Given the description of an element on the screen output the (x, y) to click on. 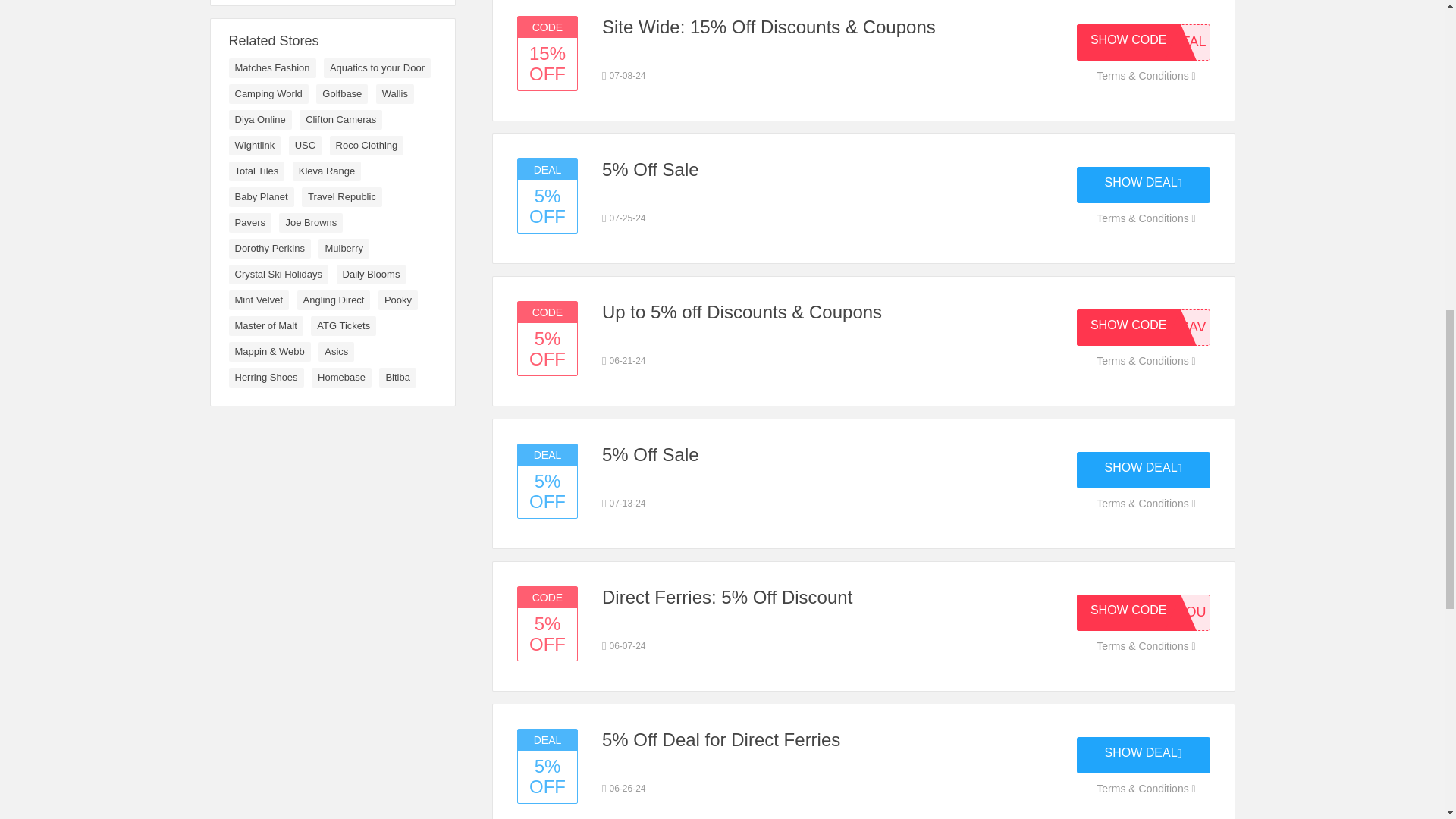
expires soon (624, 360)
expires soon (624, 788)
expires soon (624, 645)
expires soon (624, 503)
expires soon (624, 75)
expires soon (624, 218)
